Given the description of an element on the screen output the (x, y) to click on. 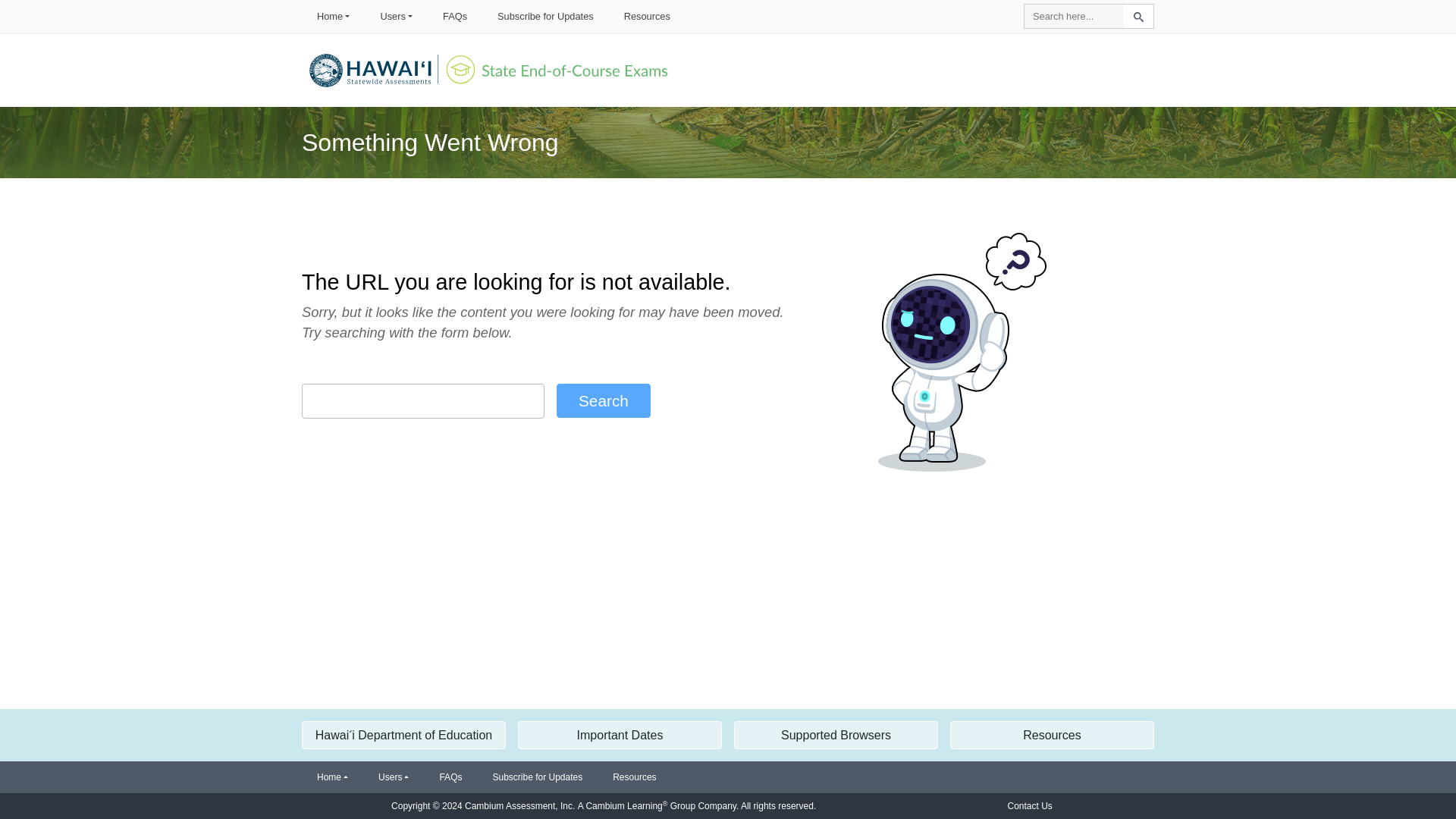
Home (332, 777)
Supported Browsers (835, 735)
Resources (1052, 735)
Users (393, 777)
Resources (634, 777)
FAQs (449, 777)
Users (396, 16)
Subscribe for Updates (545, 16)
Resources (647, 16)
Home (333, 16)
Important Dates (620, 735)
FAQs (454, 16)
Subscribe for Updates (537, 777)
Search (603, 400)
